Given the description of an element on the screen output the (x, y) to click on. 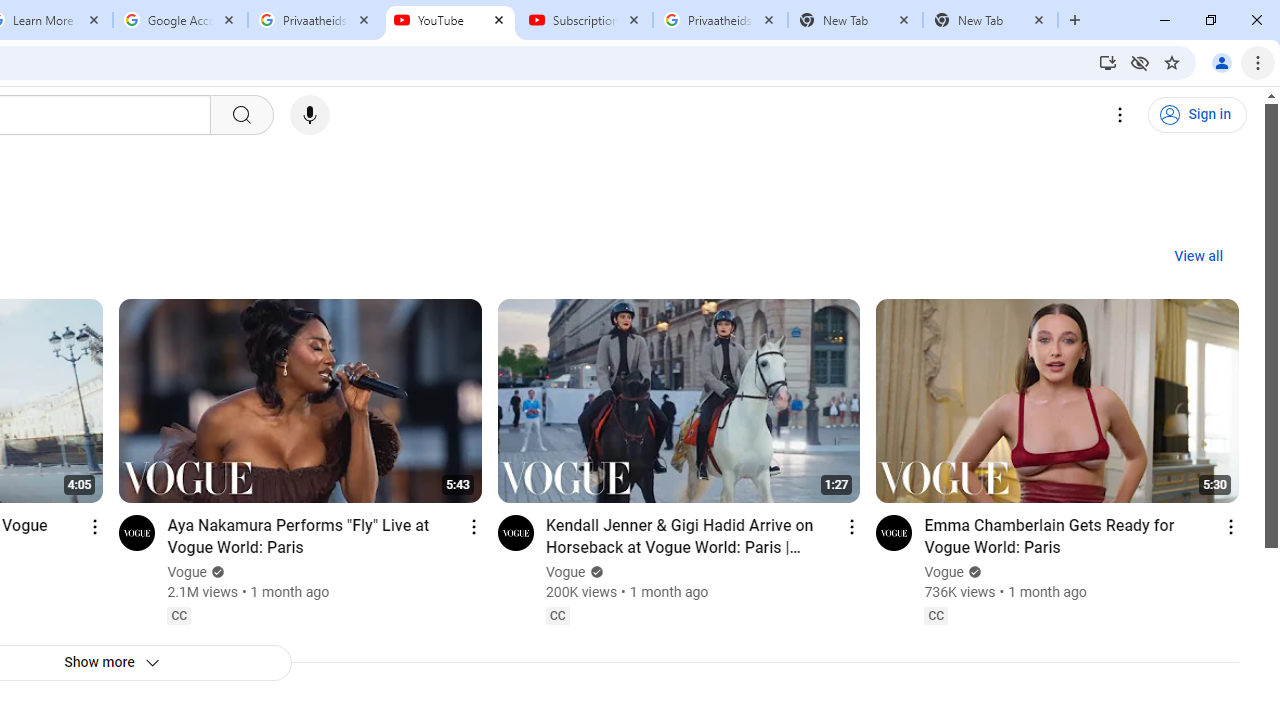
Subscriptions - YouTube (585, 20)
View all (1198, 257)
Verified (972, 572)
Vogue (945, 572)
Action menu (1229, 526)
